Given the description of an element on the screen output the (x, y) to click on. 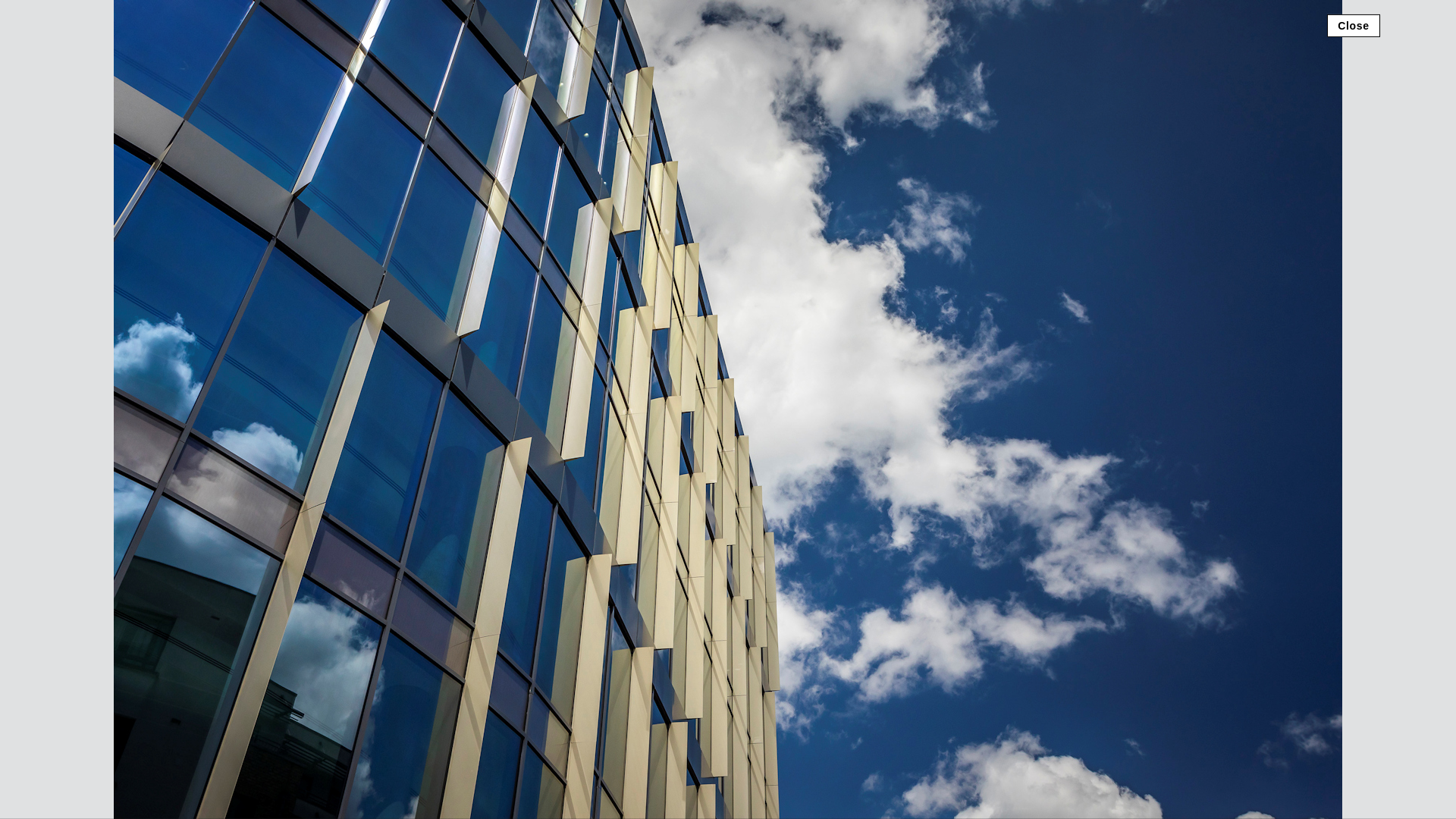
Close (1353, 24)
